Given the description of an element on the screen output the (x, y) to click on. 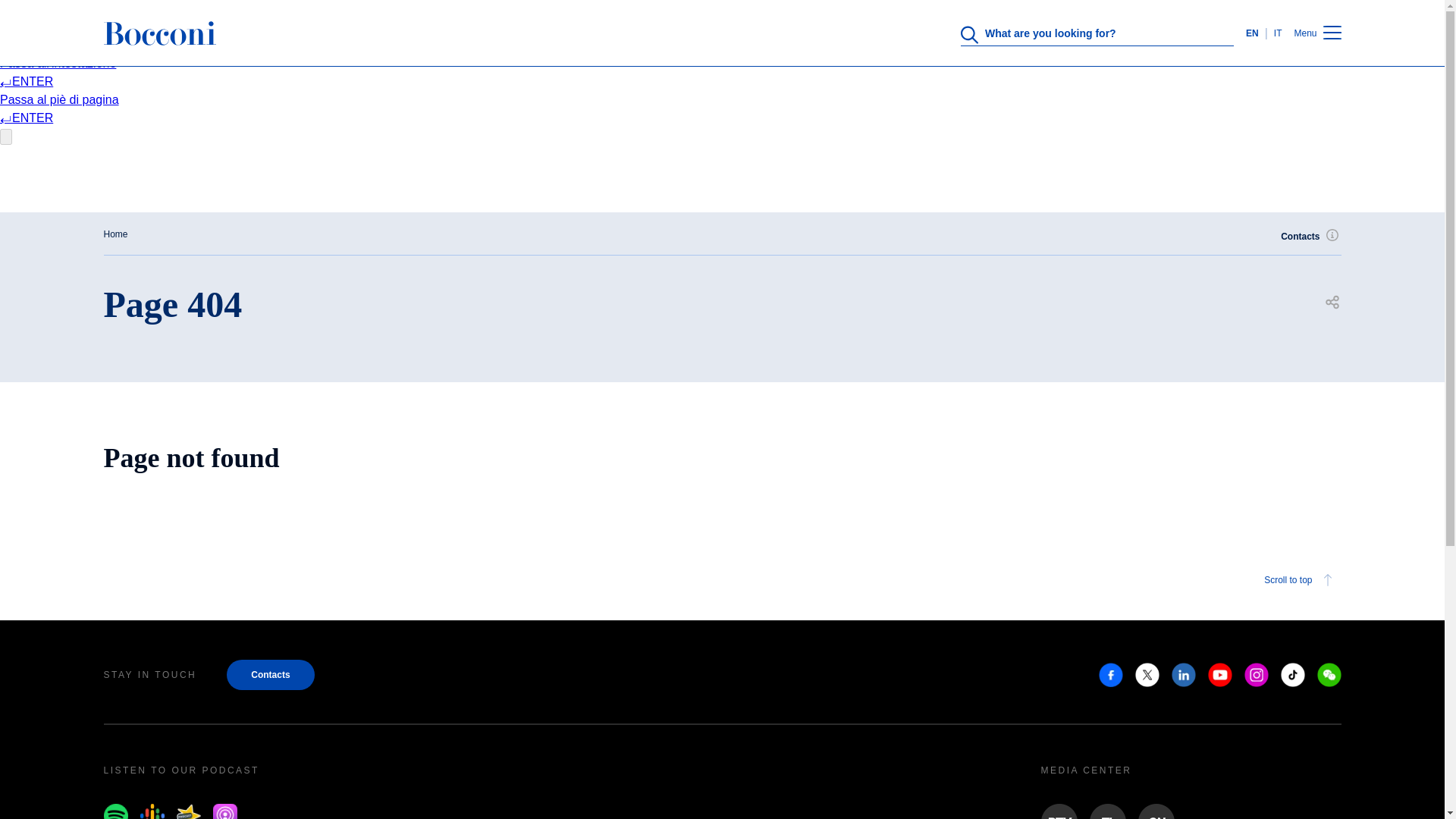
Spreaker (188, 811)
Twitter (1146, 674)
BTV (1059, 811)
Faculty and Research (716, 408)
Campus (716, 467)
TL (1107, 811)
Instagram (1255, 674)
Spotify (115, 811)
About Us (716, 290)
Tiktok (1291, 674)
